Given the description of an element on the screen output the (x, y) to click on. 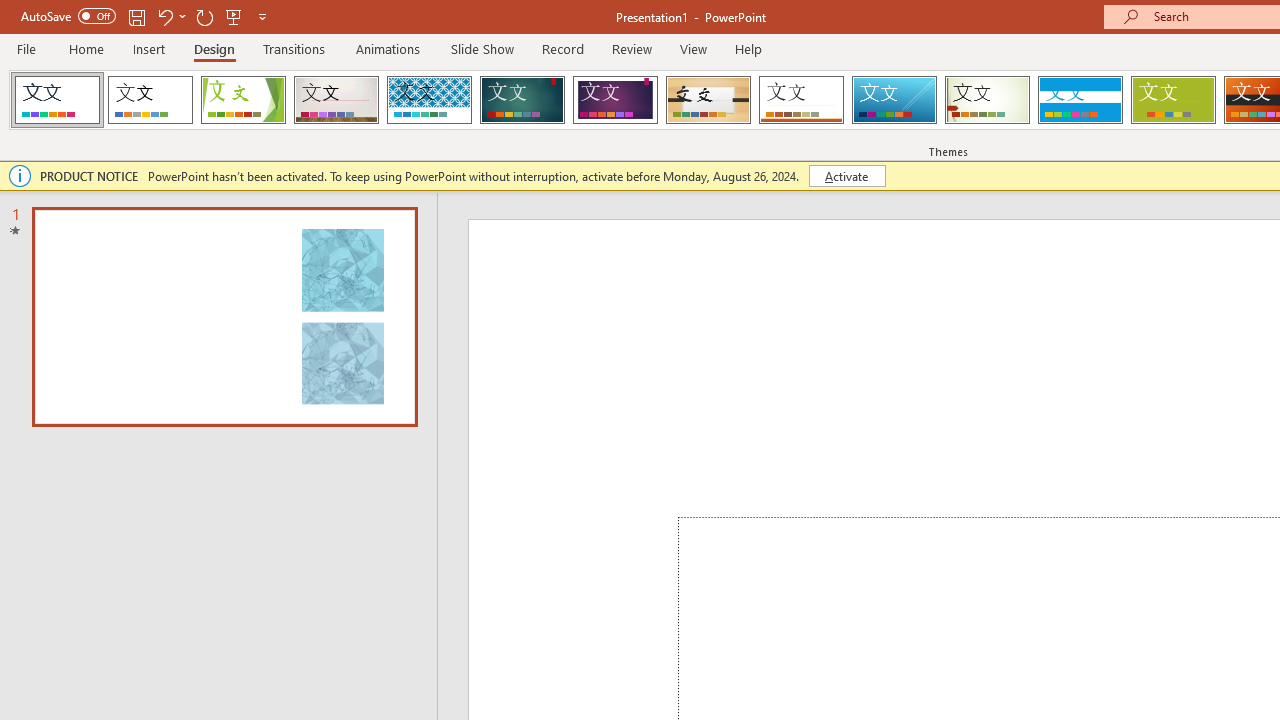
System (10, 11)
From Beginning (234, 15)
System (10, 11)
View (693, 48)
Organic (708, 100)
Retrospect (801, 100)
Activate (846, 175)
Record (562, 48)
Slide Show (481, 48)
Design (214, 48)
Customize Quick Access Toolbar (262, 15)
Help (748, 48)
Transitions (294, 48)
Wisp (987, 100)
FadeVTI (57, 100)
